Given the description of an element on the screen output the (x, y) to click on. 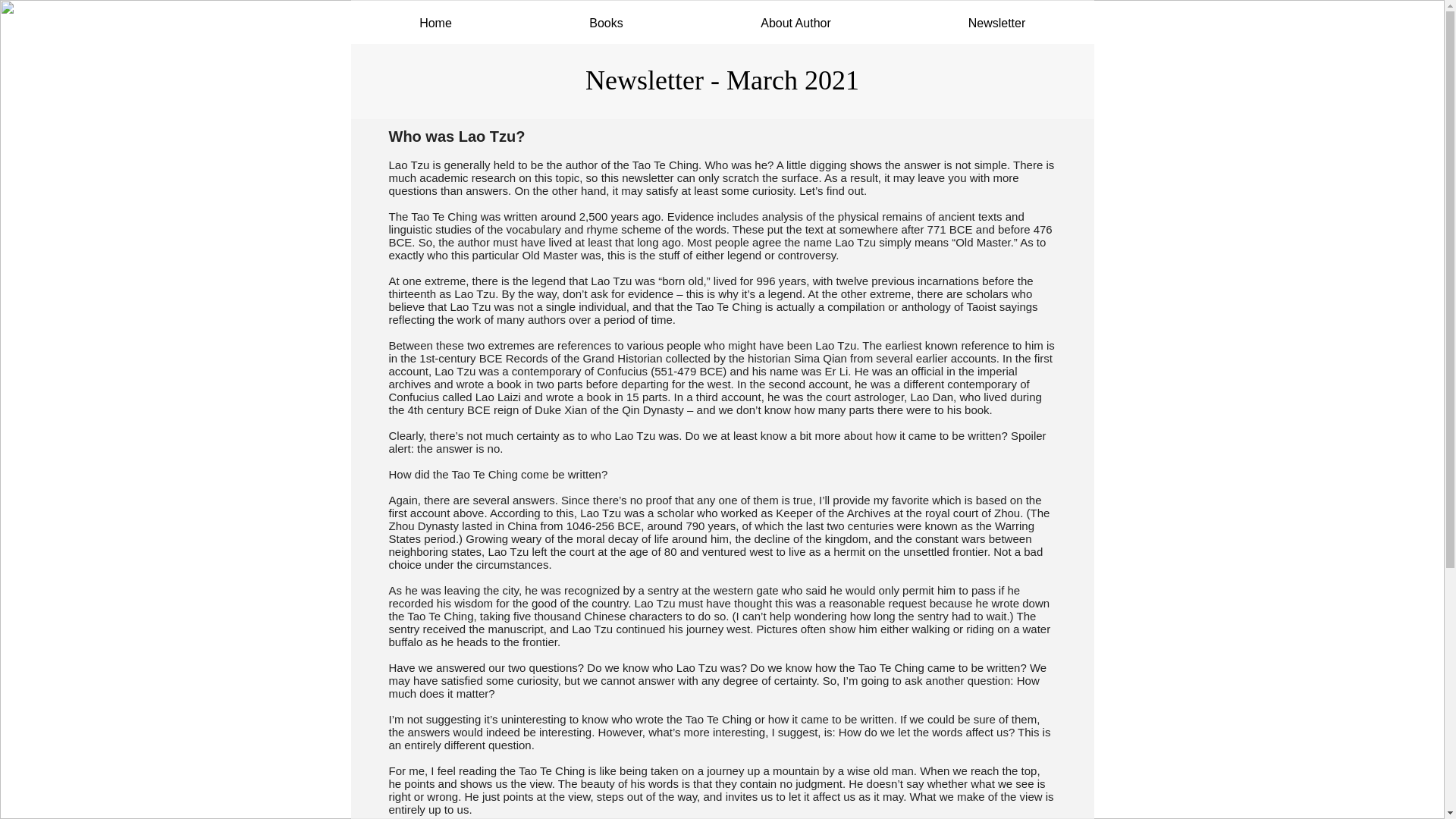
Books (605, 22)
Home (434, 22)
Newsletter (996, 22)
About Author (795, 22)
